Given the description of an element on the screen output the (x, y) to click on. 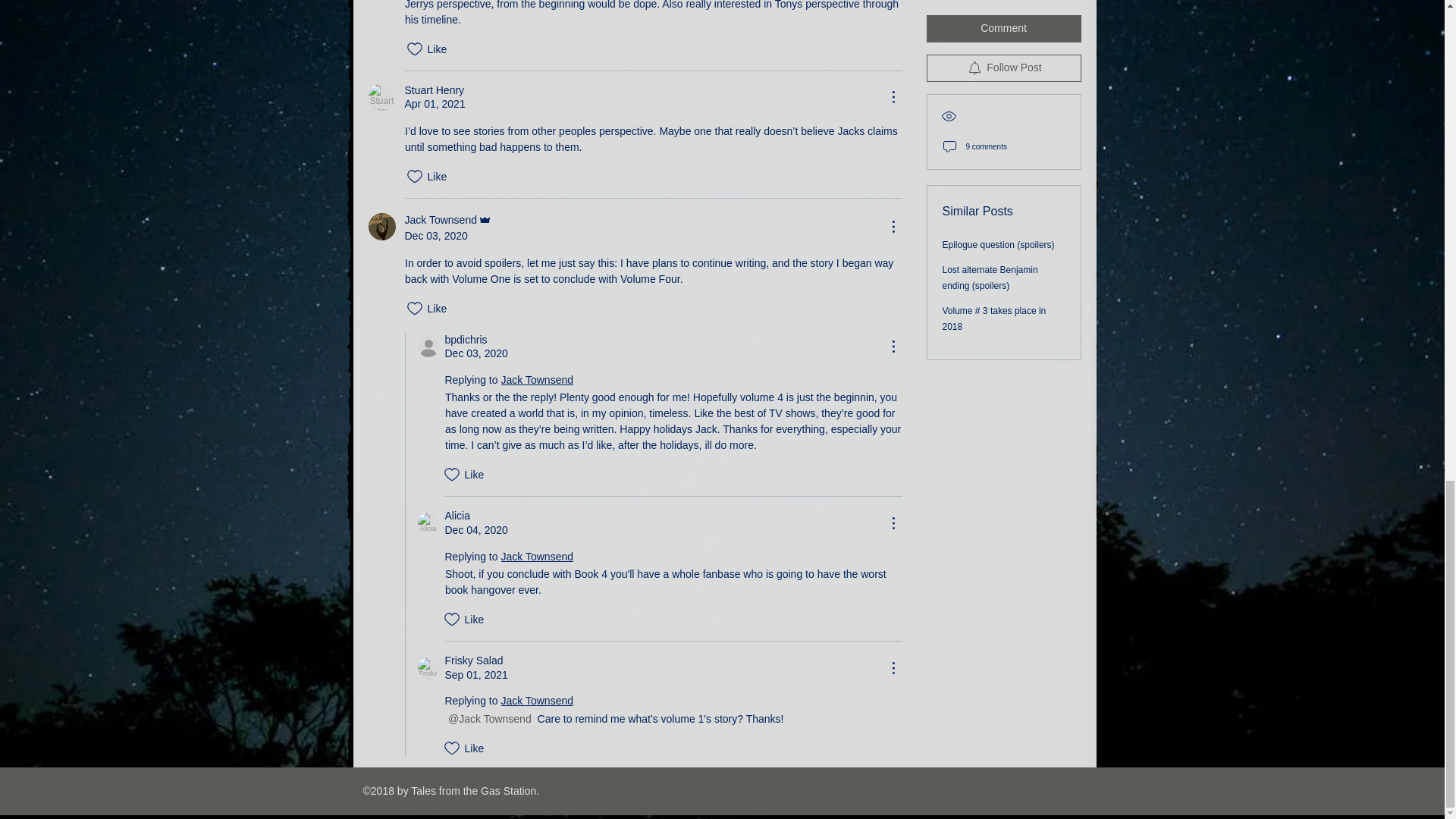
Jack Townsend (382, 226)
Alicia (427, 522)
Stuart Henry (382, 96)
Frisky Salad (427, 667)
